Given the description of an element on the screen output the (x, y) to click on. 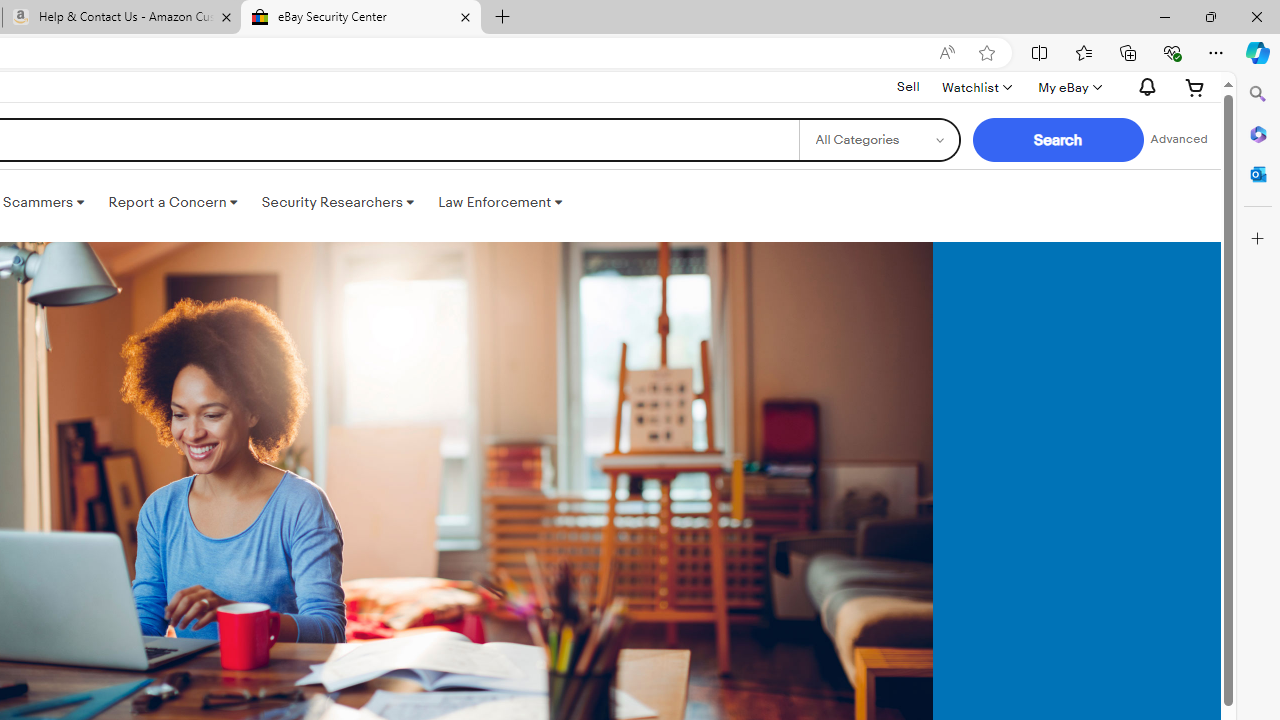
My eBay (1068, 87)
Select a category for search (877, 139)
Report a Concern  (173, 202)
